Given the description of an element on the screen output the (x, y) to click on. 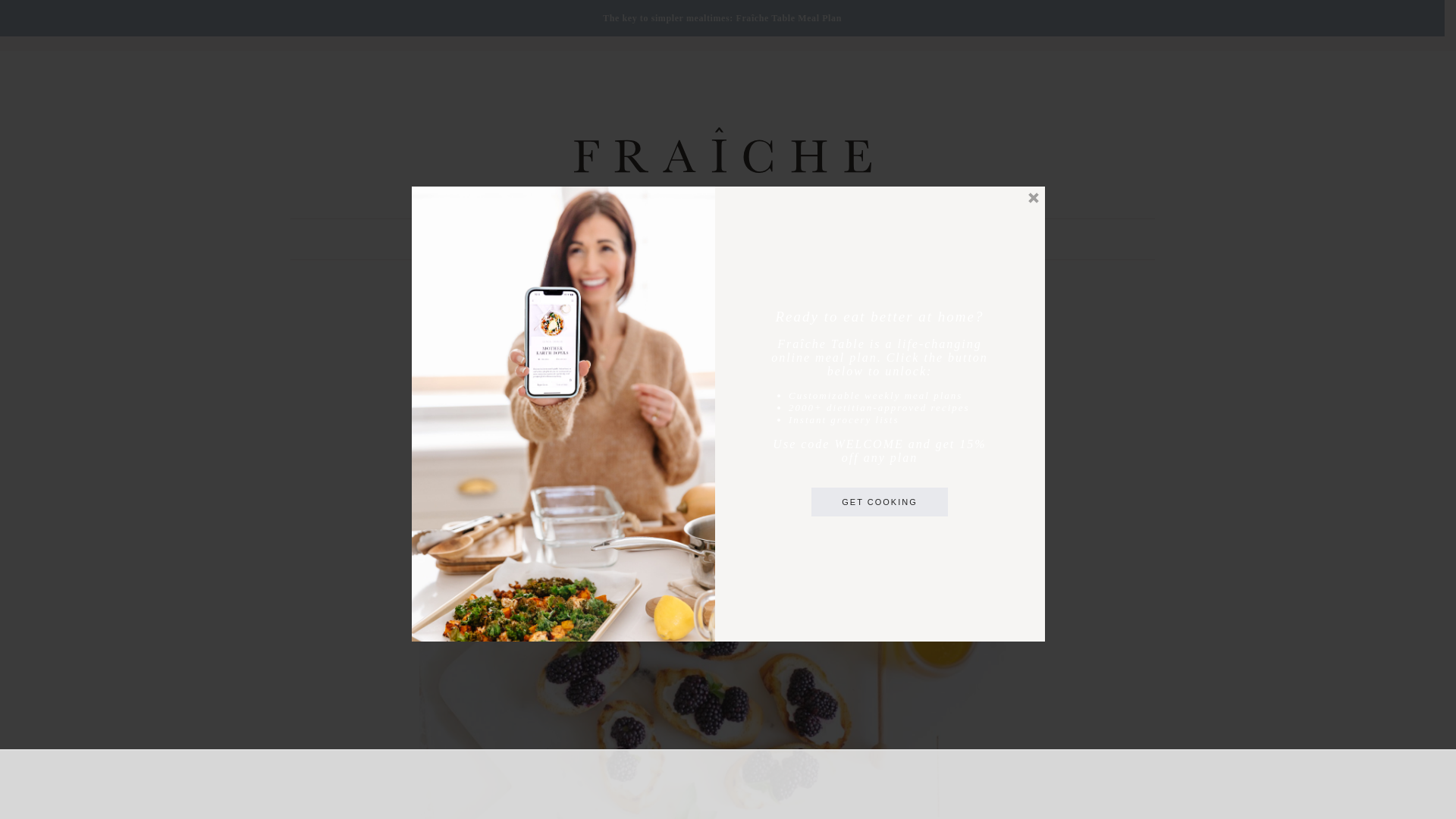
HOME (42, 22)
Tiktok (1402, 25)
CONTACT (141, 22)
GET COOKING (878, 501)
SUBSCRIBE (259, 22)
